Given the description of an element on the screen output the (x, y) to click on. 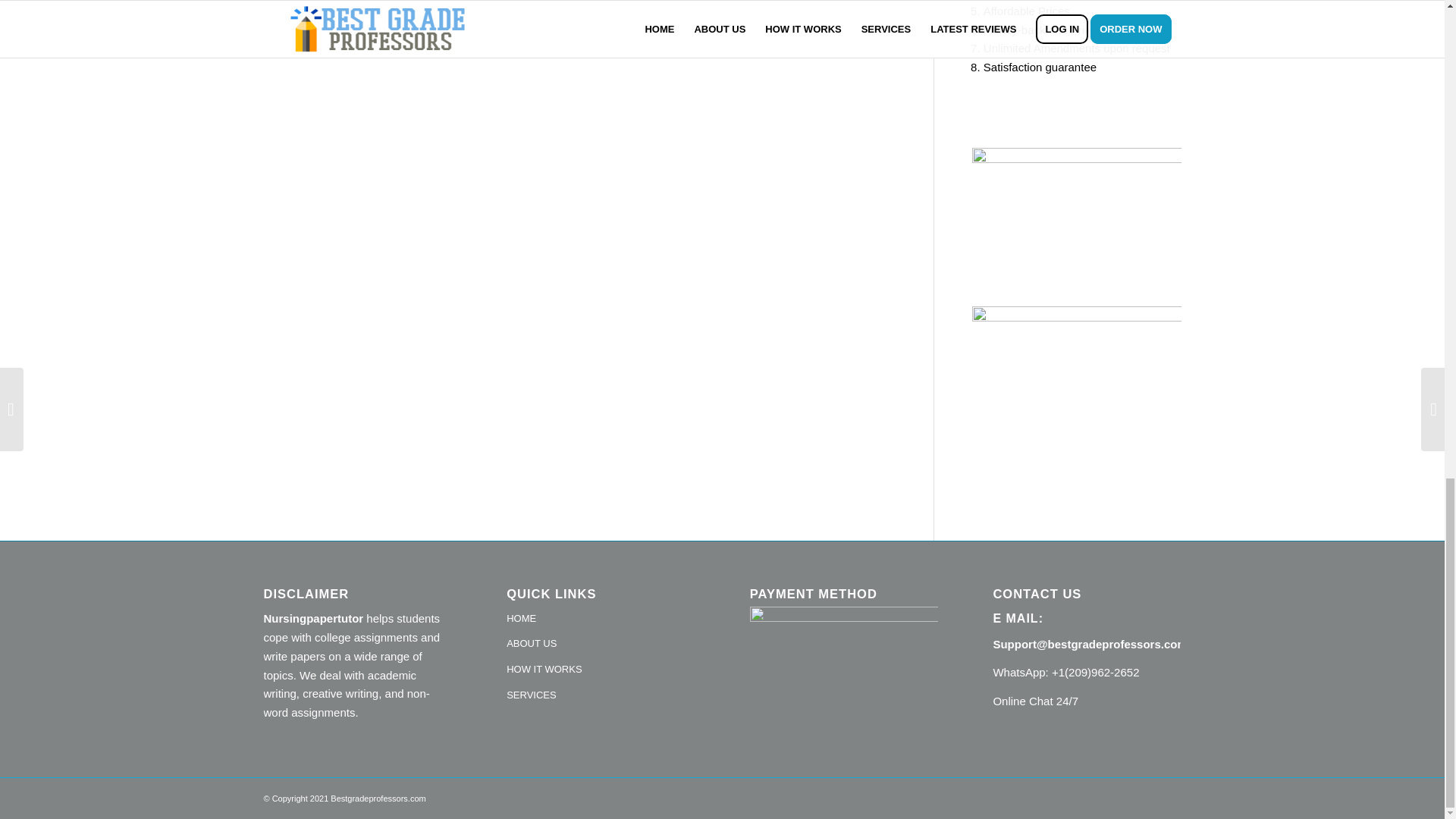
HOME (600, 619)
SERVICES (600, 696)
ABOUT US (600, 644)
HOW IT WORKS (600, 670)
